Given the description of an element on the screen output the (x, y) to click on. 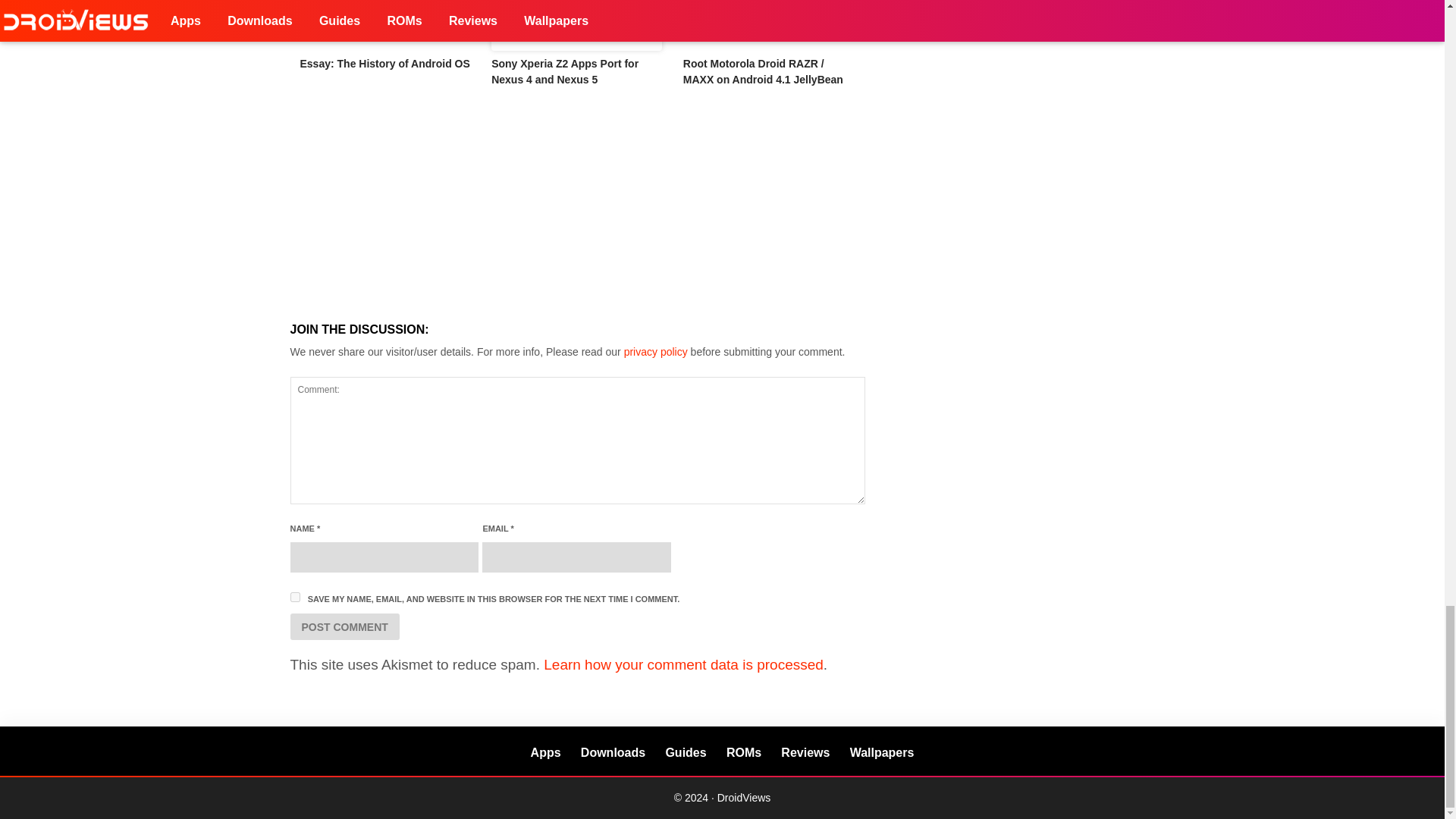
Essay: The History of Android OS (384, 63)
Post Comment (343, 626)
Post Comment (343, 626)
privacy policy (655, 351)
yes (294, 596)
Sony Xperia Z2 Apps Port for Nexus 4 and Nexus 5 (577, 25)
Essay: The History of Android OS (385, 25)
Sony Xperia Z2 Apps Port for Nexus 4 and Nexus 5 (565, 71)
comment-policy-title (655, 351)
